Given the description of an element on the screen output the (x, y) to click on. 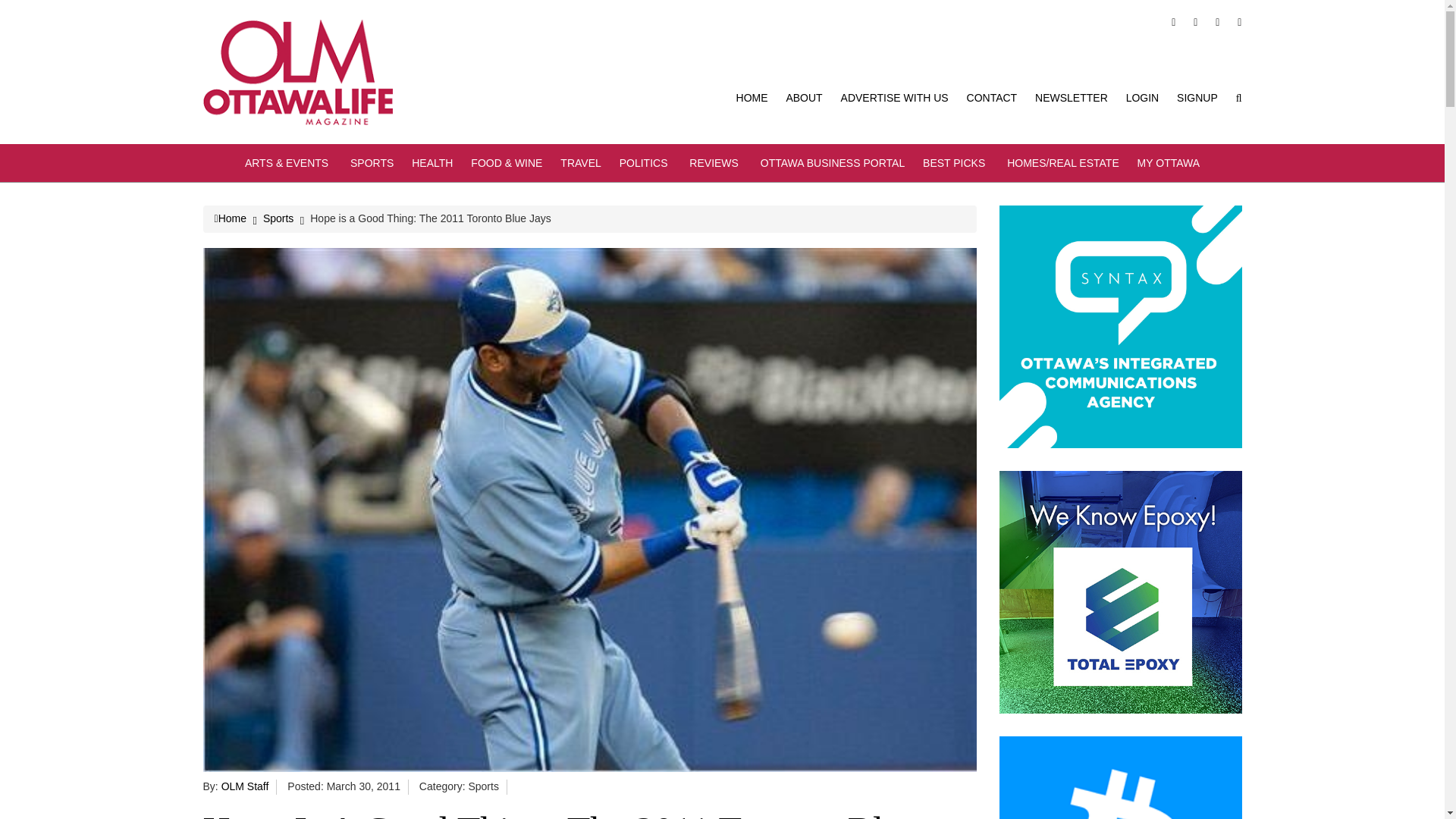
POLITICS (645, 162)
HEALTH (432, 162)
ABOUT (804, 97)
CONTACT (991, 97)
TRAVEL (579, 162)
BEST PICKS (955, 162)
HOME (752, 97)
LOGIN (1141, 97)
SIGNUP (1196, 97)
OTTAWA BUSINESS PORTAL (832, 162)
